Given the description of an element on the screen output the (x, y) to click on. 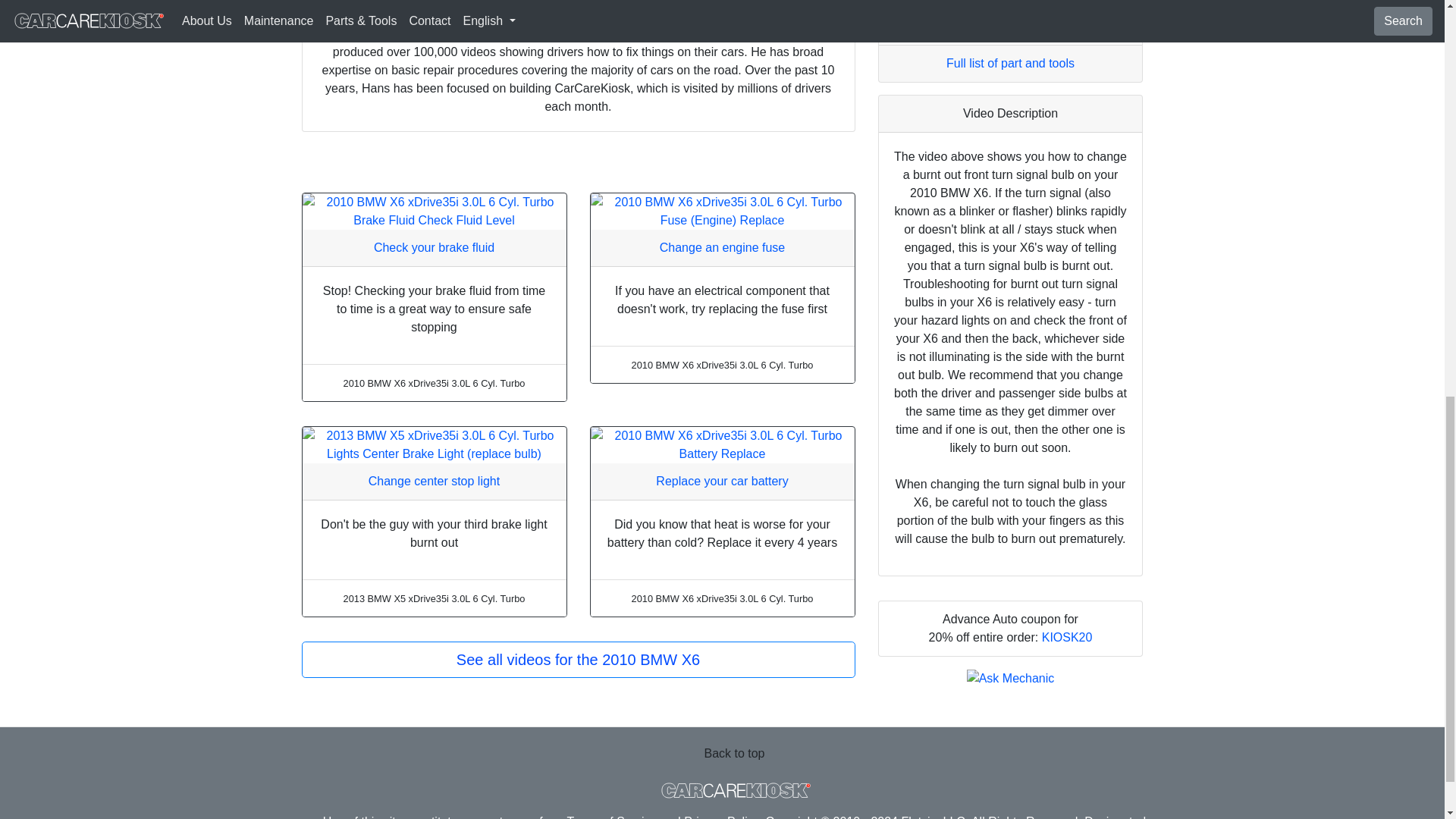
See all videos for the 2010 BMW X6 (578, 659)
Change center stop light (433, 481)
Check your brake fluid (434, 246)
Change an engine fuse (721, 246)
Hans Angermeier (390, 33)
Replace your car battery (721, 481)
